Given the description of an element on the screen output the (x, y) to click on. 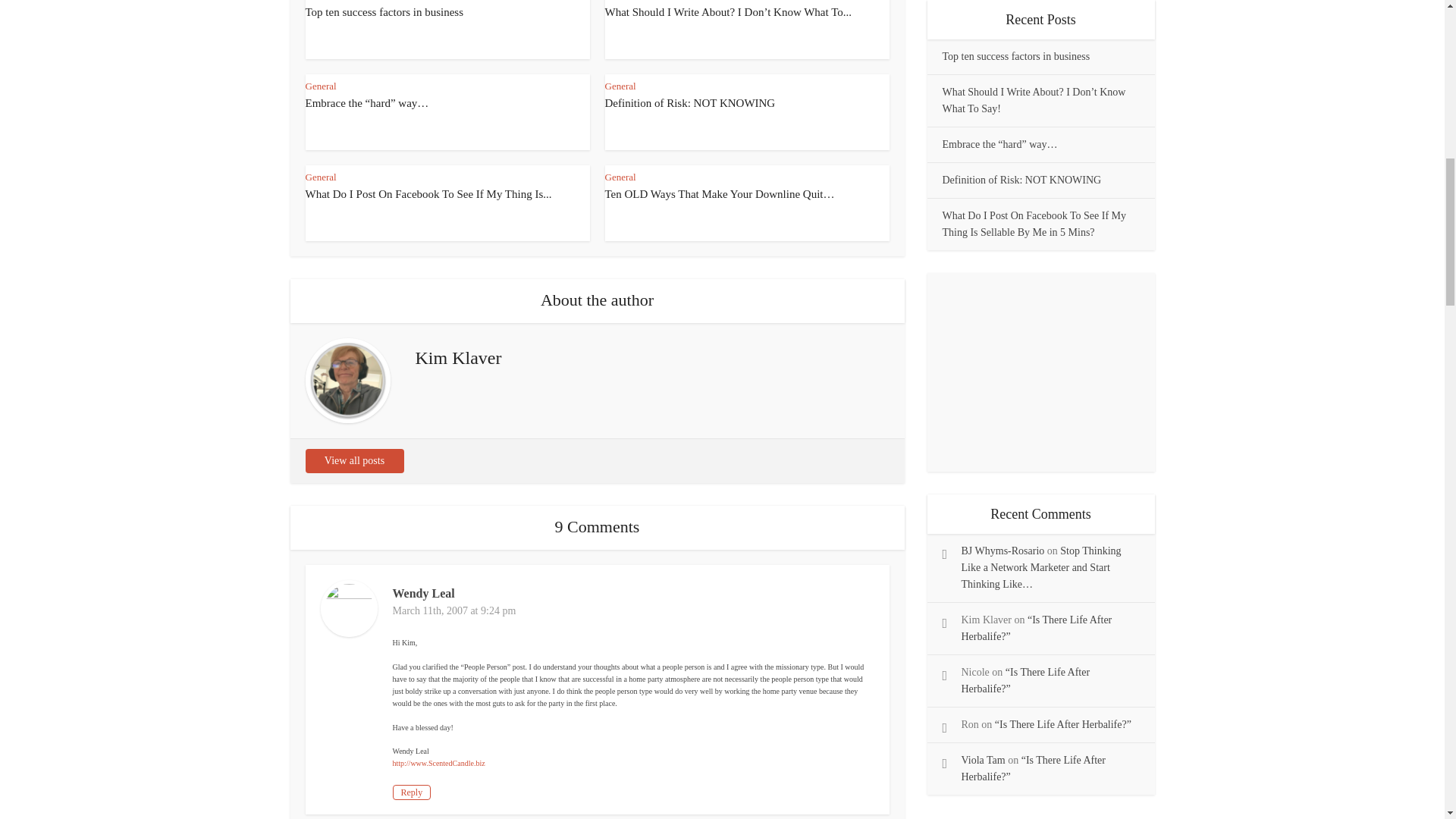
What Do I Post On Facebook To See If My Thing Is... (427, 193)
Definition of Risk: NOT KNOWING (690, 102)
March 11th, 2007 at 9:24 pm (454, 610)
View all posts (353, 460)
General (620, 176)
Reply (411, 792)
General (620, 85)
Top ten success factors in business (383, 11)
